Given the description of an element on the screen output the (x, y) to click on. 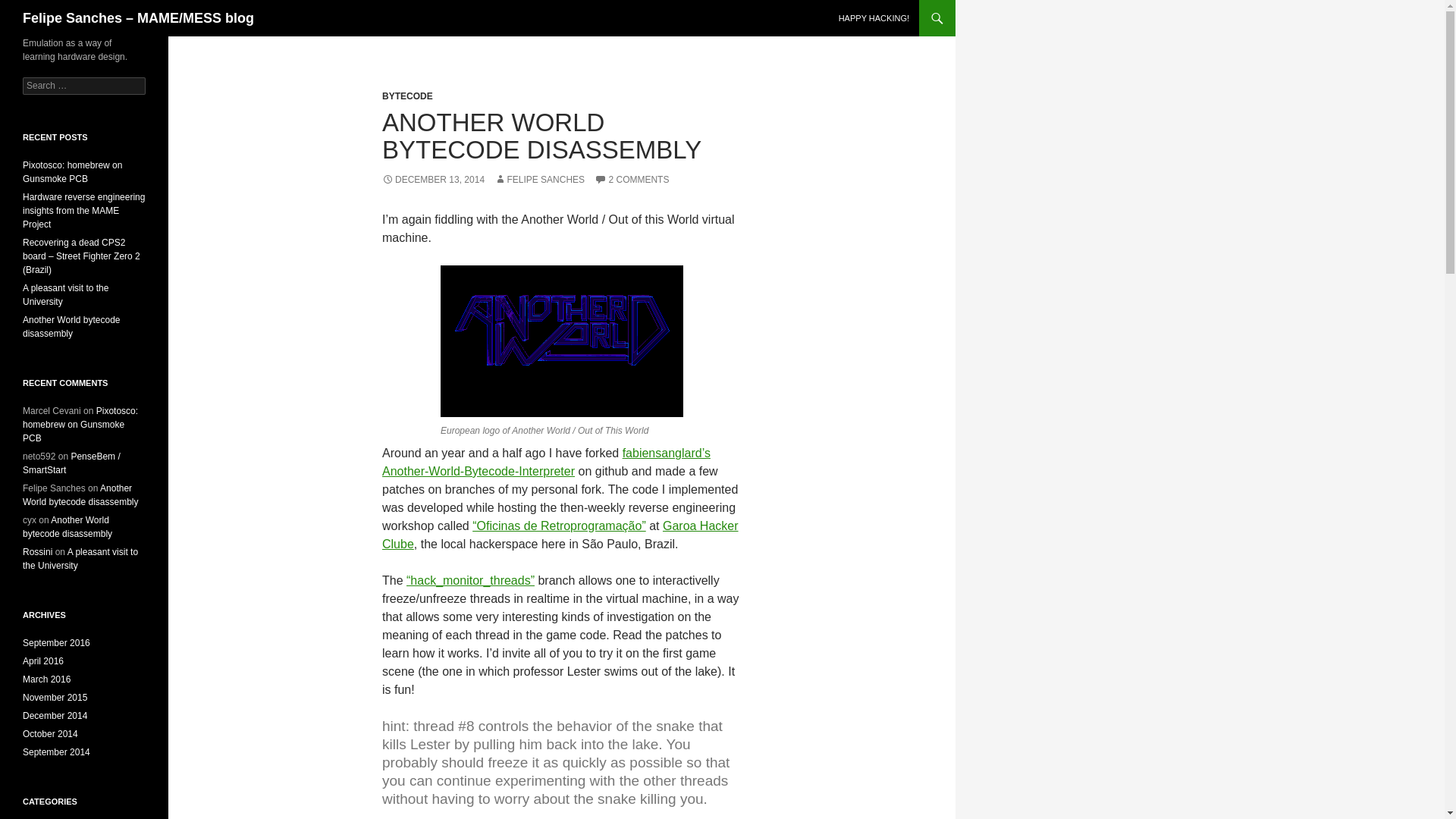
Pixotosco: homebrew on Gunsmoke PCB (80, 424)
April 2016 (43, 661)
DECEMBER 13, 2014 (432, 179)
Search (30, 8)
Hardware reverse engineering insights from the MAME Project (83, 210)
Pixotosco: homebrew on Gunsmoke PCB (72, 171)
FELIPE SANCHES (540, 179)
2 COMMENTS (631, 179)
BYTECODE (406, 95)
